Given the description of an element on the screen output the (x, y) to click on. 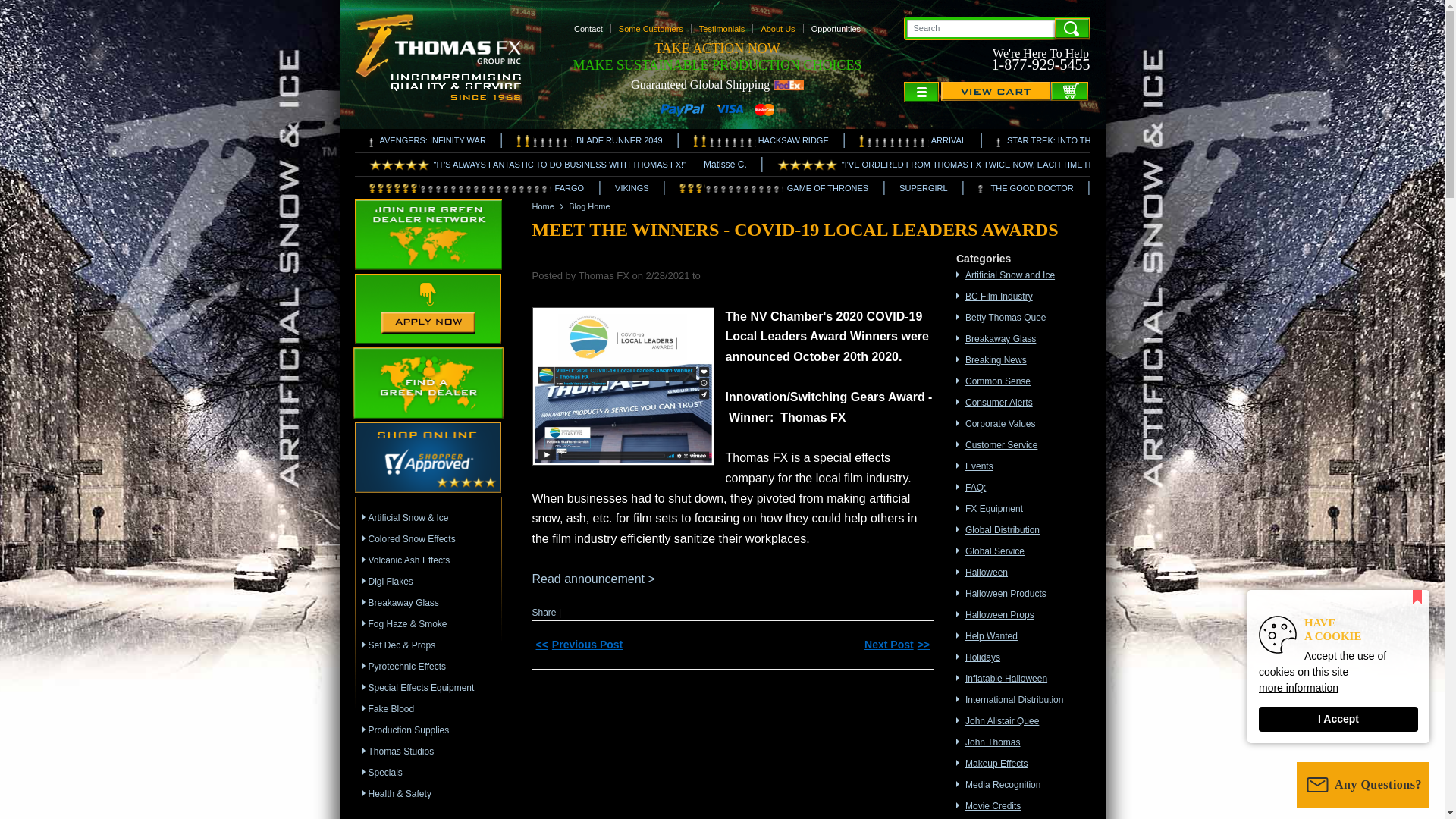
Some Customers (651, 28)
We're here to help (1040, 58)
Opportunities (1040, 58)
About Us (835, 28)
Testimonials (777, 28)
Guaranteed Global Shipping (722, 28)
Contact (716, 83)
